Given the description of an element on the screen output the (x, y) to click on. 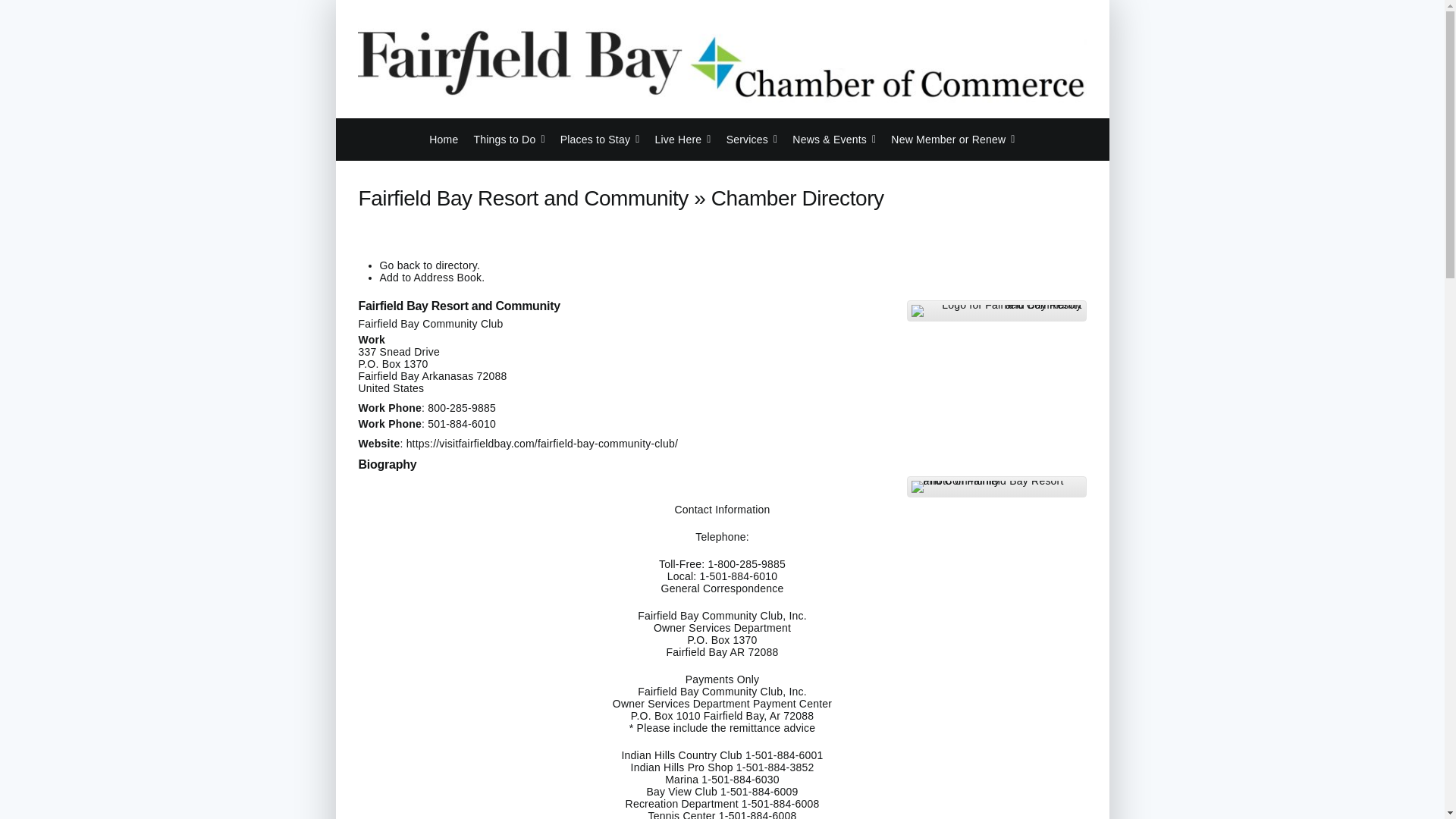
Download vCard (431, 277)
Photo of Fairfield Bay Resort and Community (996, 486)
Places to Stay (600, 138)
Services (751, 138)
Logo for Fairfield Bay Resort and Community (996, 310)
Live Here (681, 138)
Things to Do (508, 138)
Fairfield Bay Resort and Community (517, 305)
